Given the description of an element on the screen output the (x, y) to click on. 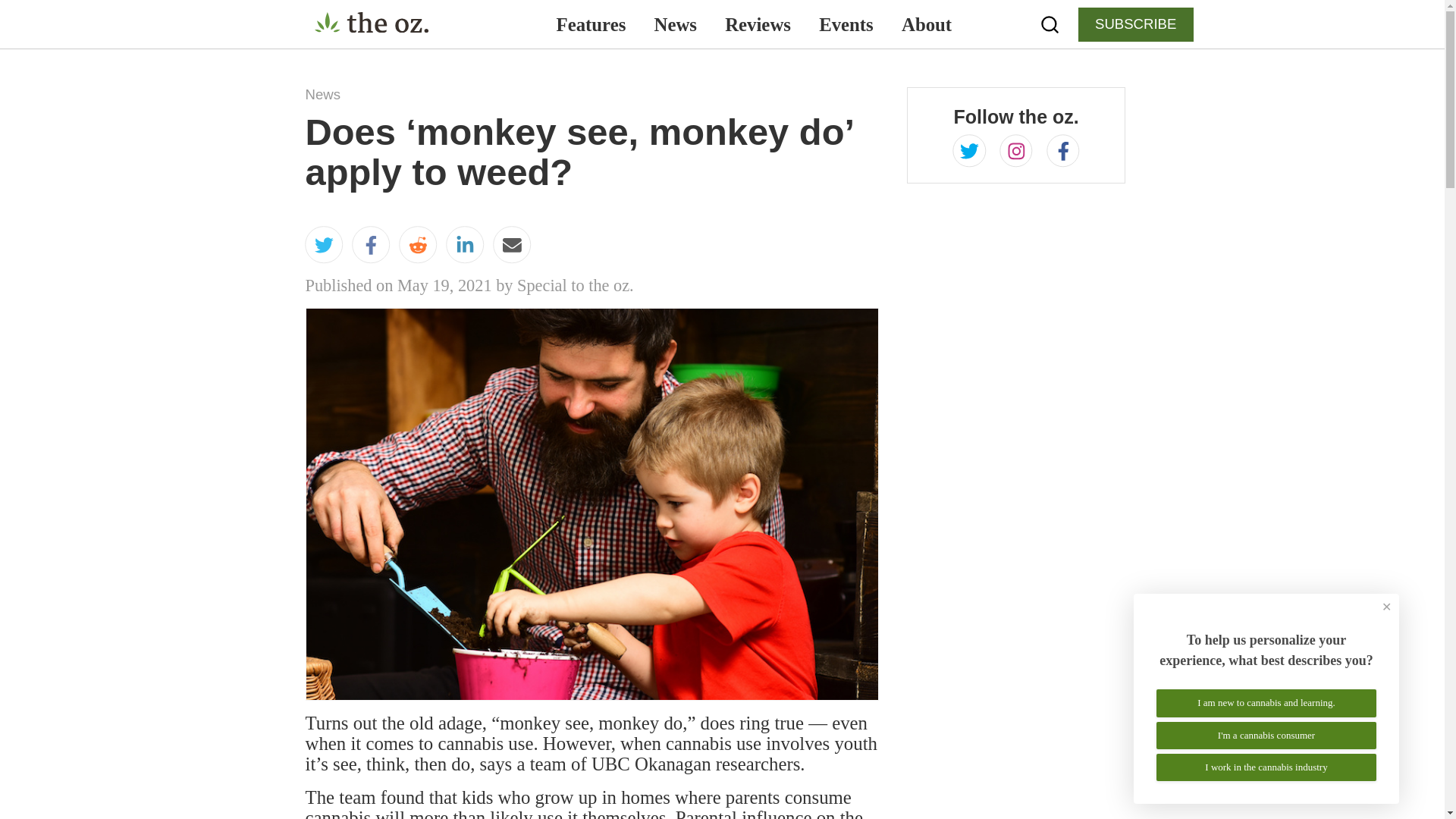
Reviews (758, 24)
Share this story on Twitter (323, 246)
Features (590, 24)
Share this story on Facebook (371, 246)
Events (846, 24)
Email this story (512, 246)
News (675, 24)
Subscribe (610, 479)
Send Message (645, 667)
Submit to Reddit (417, 246)
About (925, 24)
Share this story on LinkedIn (464, 246)
